Given the description of an element on the screen output the (x, y) to click on. 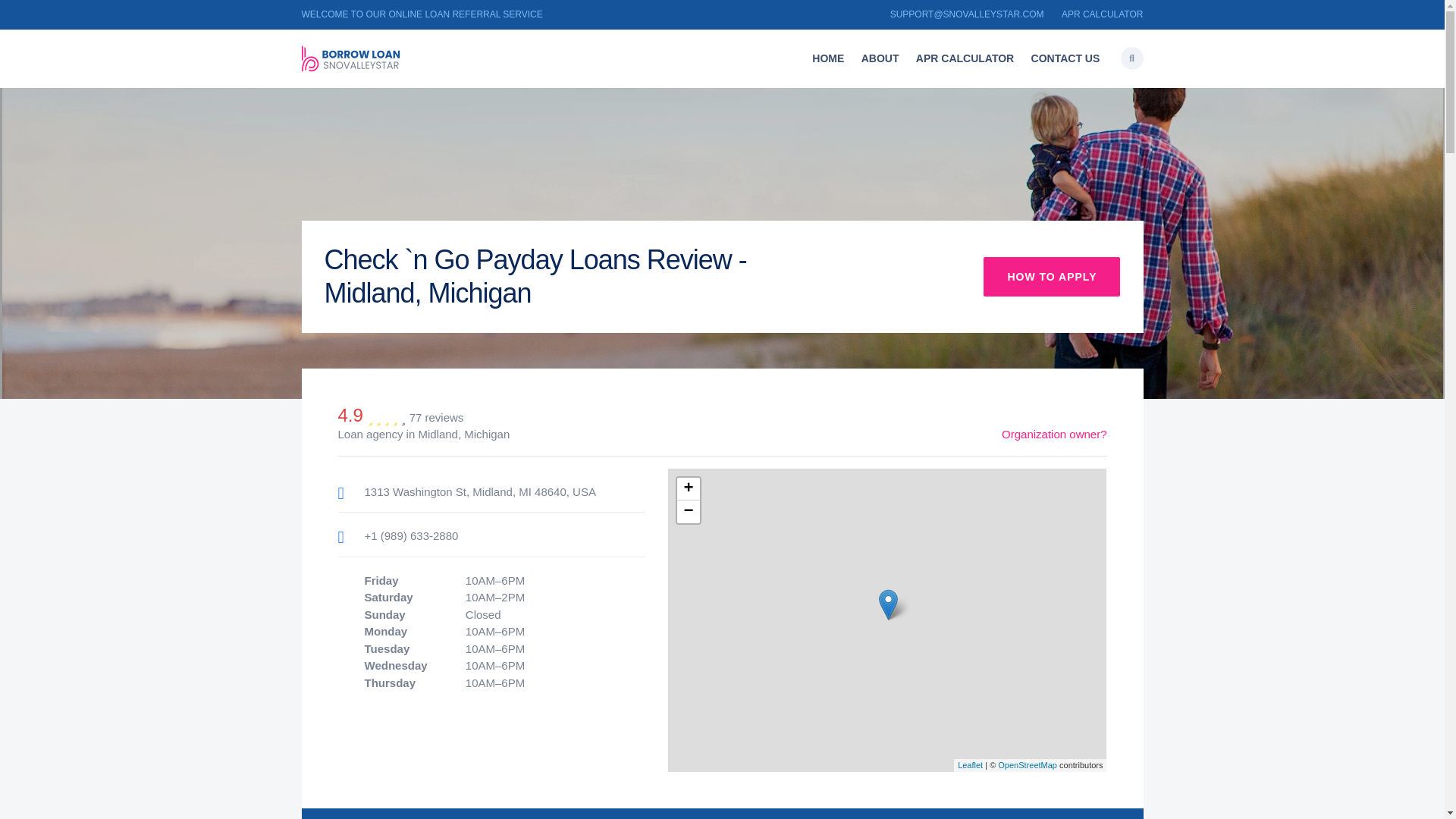
CONTACT US (1065, 58)
ABOUT (879, 58)
HOME (827, 58)
A JS library for interactive maps (970, 764)
Organization owner? (1053, 433)
Zoom in (687, 488)
APR CALCULATOR (965, 58)
HOW TO APPLY (1051, 276)
Organization owner? (1053, 433)
Zoom out (687, 511)
APR CALCULATOR (1101, 14)
Leaflet (970, 764)
OpenStreetMap (1027, 764)
